Given the description of an element on the screen output the (x, y) to click on. 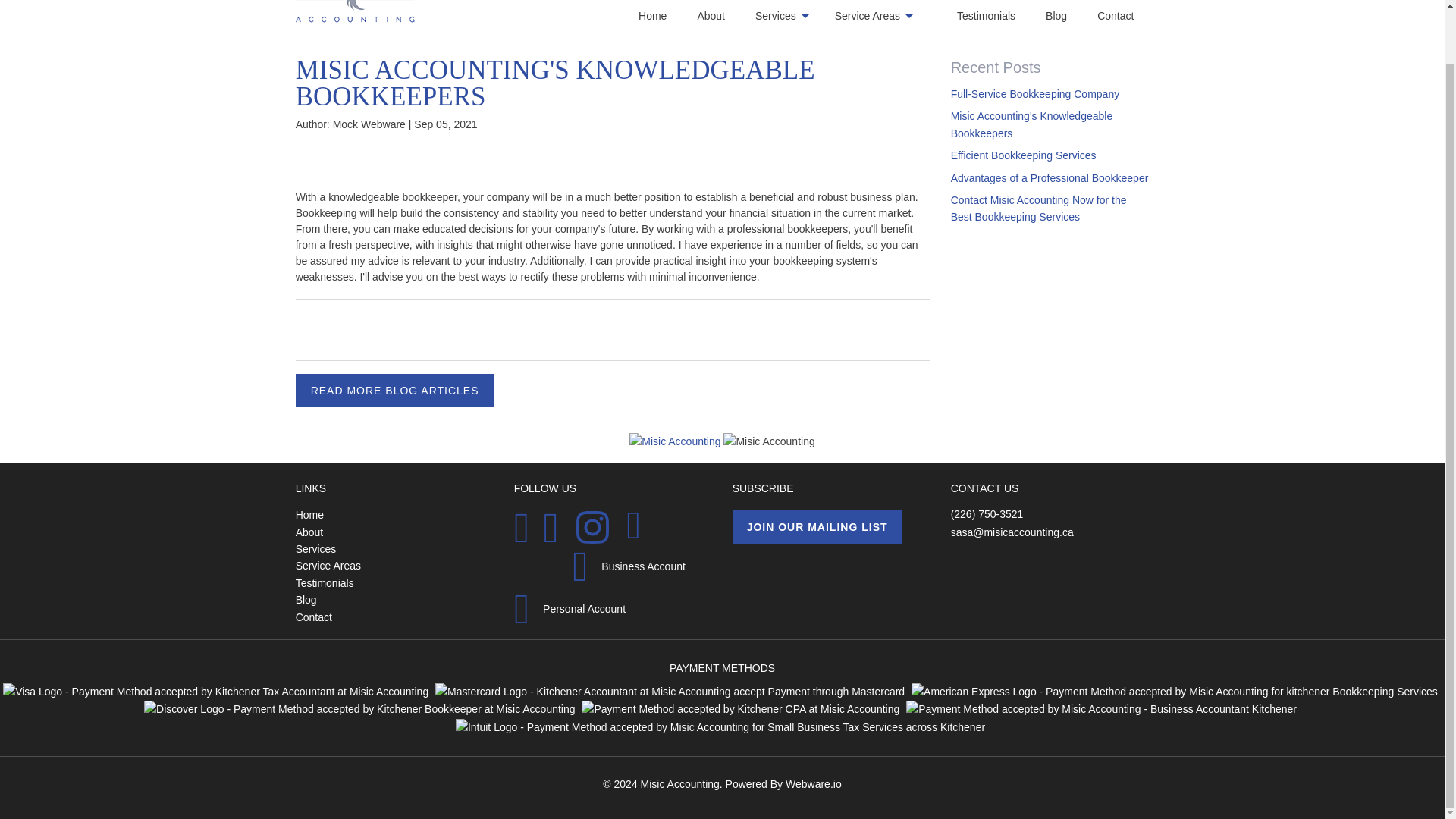
Service Areas (895, 15)
Full-Service Bookkeeping Company (1034, 93)
Blog (1071, 15)
Contact (1130, 15)
Services (804, 15)
About (726, 15)
Home (668, 15)
Testimonials (1000, 15)
READ MORE BLOG ARTICLES (395, 390)
